Given the description of an element on the screen output the (x, y) to click on. 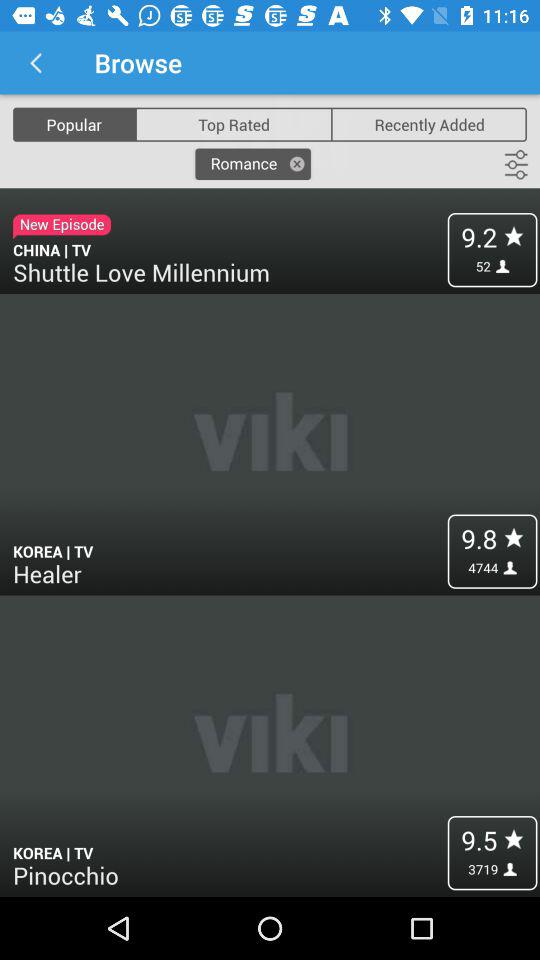
flip until romance (252, 164)
